Given the description of an element on the screen output the (x, y) to click on. 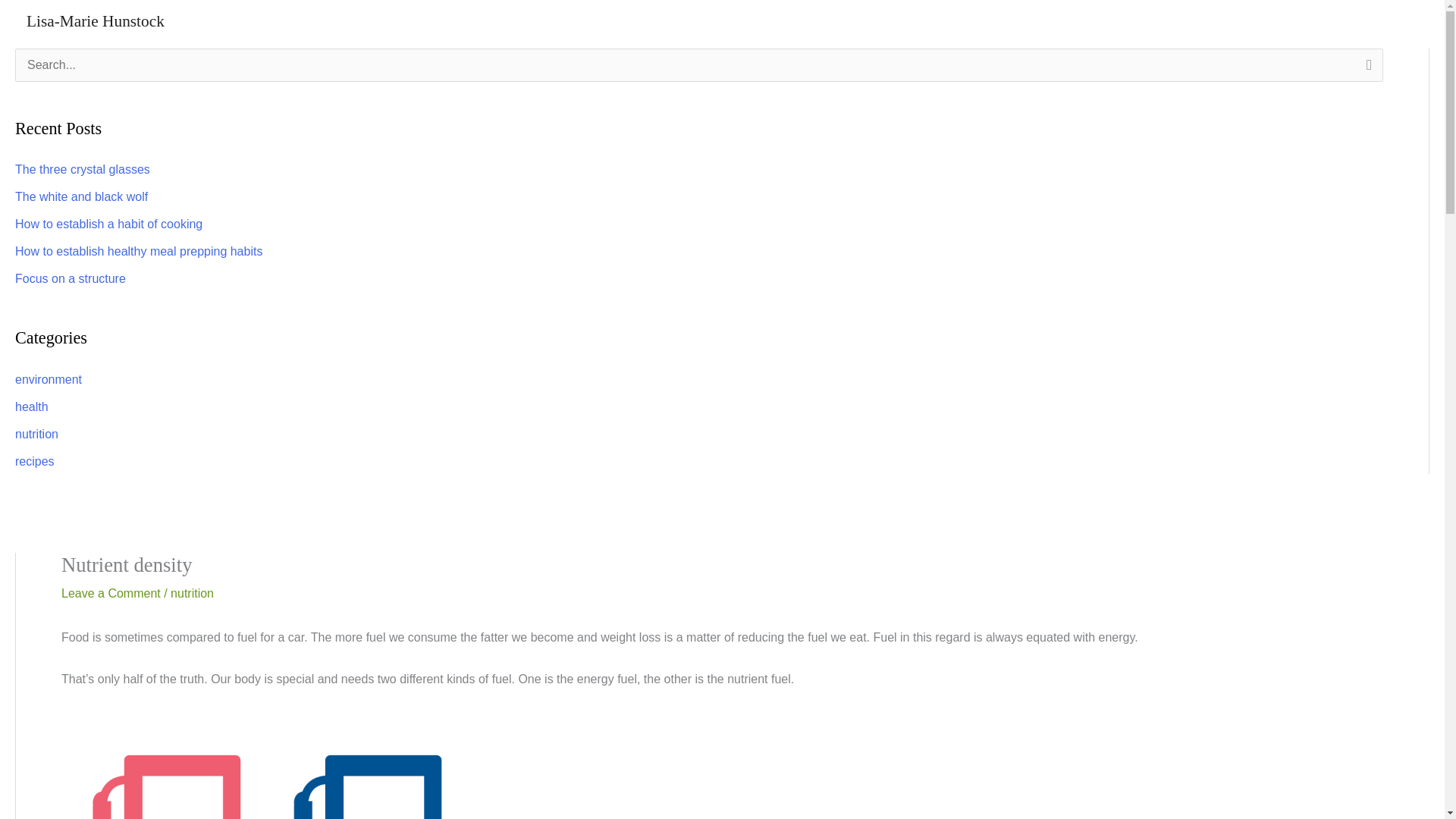
The three crystal glasses (81, 169)
health (31, 406)
Leave a Comment (110, 593)
recipes (34, 461)
nutrition (36, 433)
environment (47, 379)
nutrition (192, 593)
Lisa-Marie Hunstock (95, 21)
How to establish a habit of cooking (108, 223)
Focus on a structure (69, 278)
The white and black wolf (81, 196)
How to establish healthy meal prepping habits (138, 250)
